Given the description of an element on the screen output the (x, y) to click on. 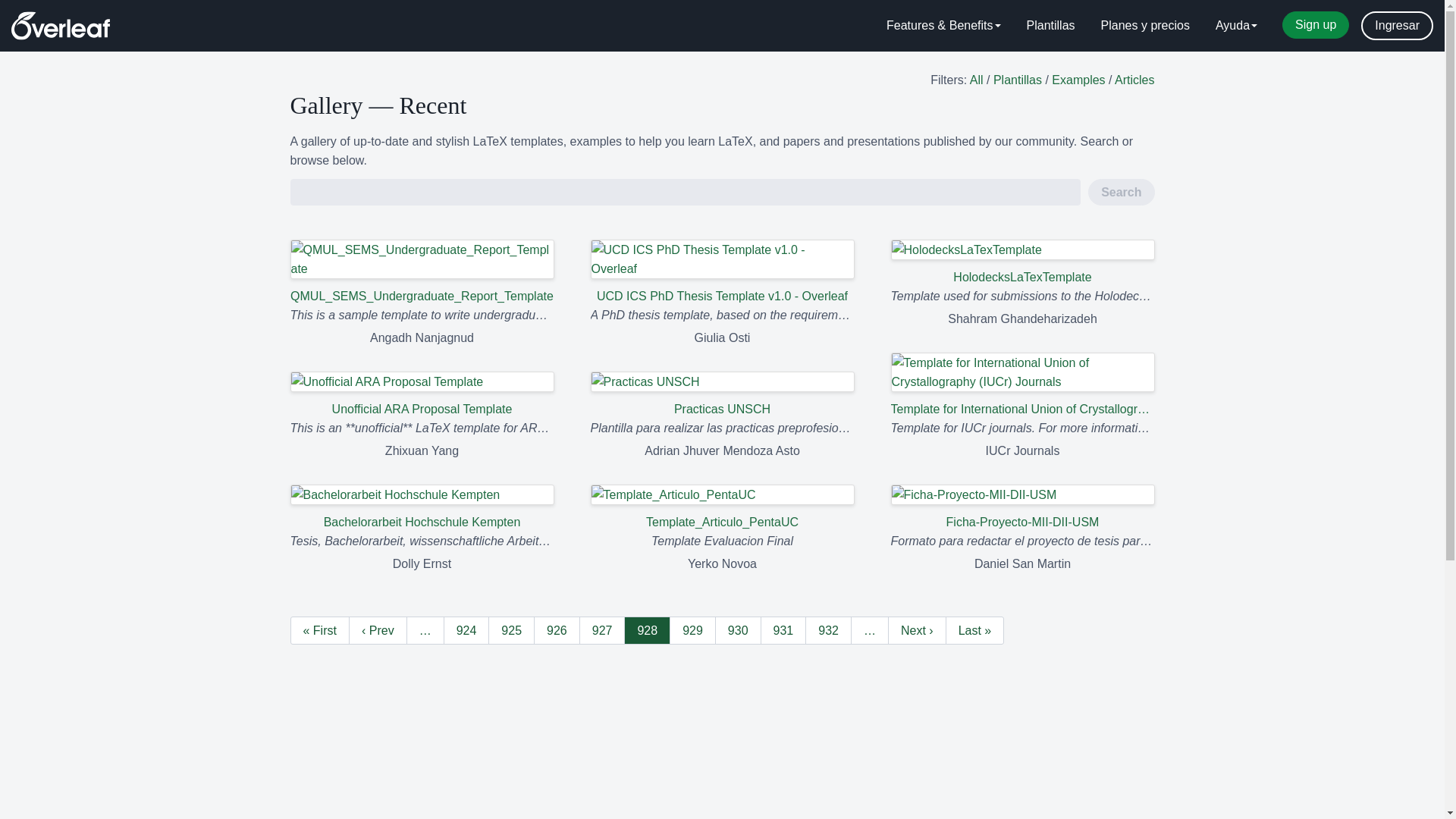
Practicas UNSCH (721, 394)
Search (1120, 192)
UCD ICS PhD Thesis Template v1.0 - Overleaf (721, 272)
Ficha-Proyecto-MII-DII-USM (1021, 507)
Planes y precios (1144, 25)
Unofficial ARA Proposal Template (421, 394)
Plantillas (1050, 25)
926 (556, 630)
Bachelorarbeit Hochschule Kempten (421, 507)
Plantillas (1017, 79)
